Given the description of an element on the screen output the (x, y) to click on. 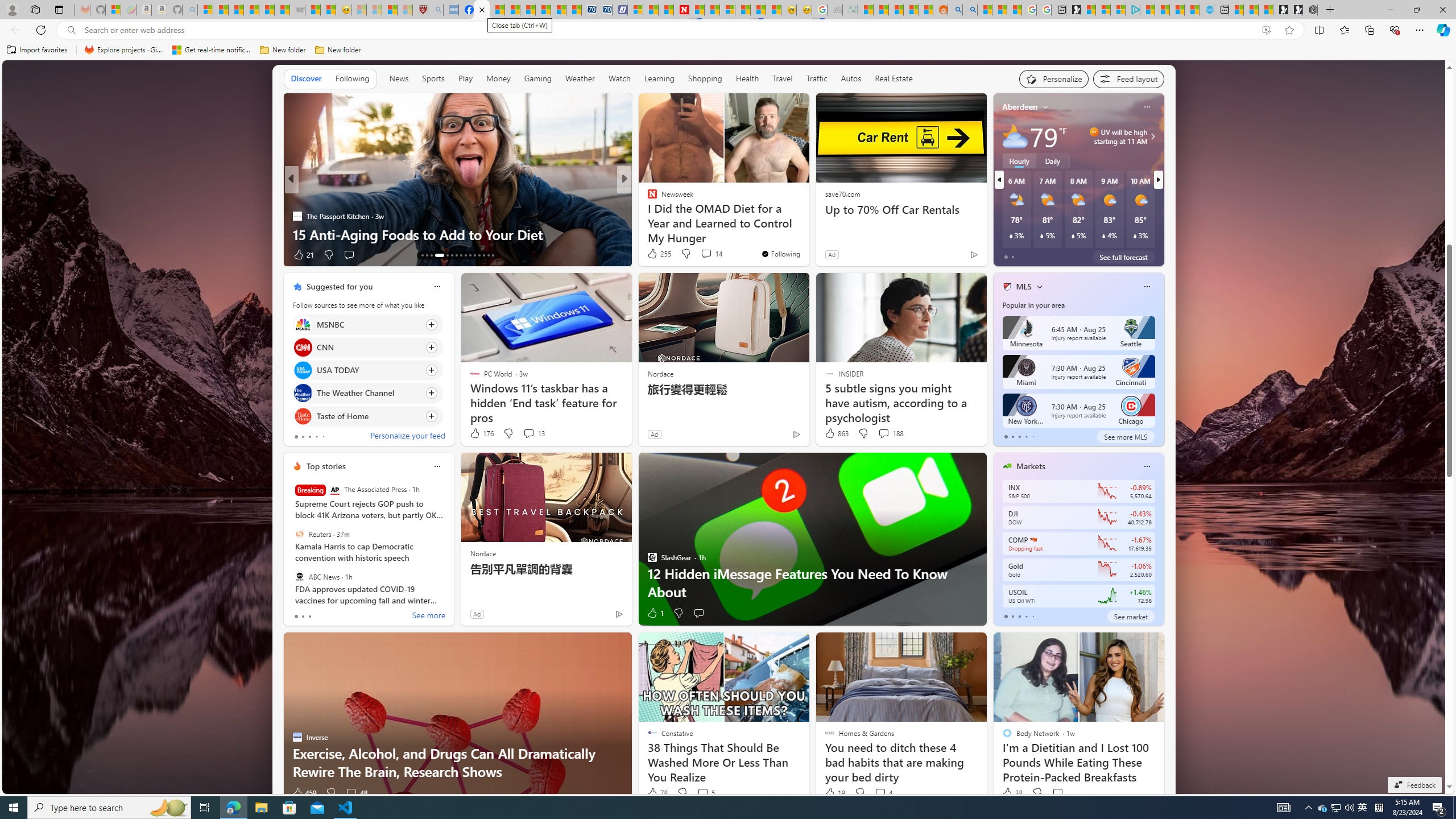
Study finds bursts of rapid aging at 44 and 60 (807, 234)
Mostly cloudy (1014, 136)
Robert H. Shmerling, MD - Harvard Health (419, 9)
Newsweek - News, Analysis, Politics, Business, Technology (681, 9)
317 Like (654, 254)
Real Estate (893, 78)
255 Like (658, 253)
Southern Living (647, 197)
AutomationID: tab-66 (422, 255)
